Given the description of an element on the screen output the (x, y) to click on. 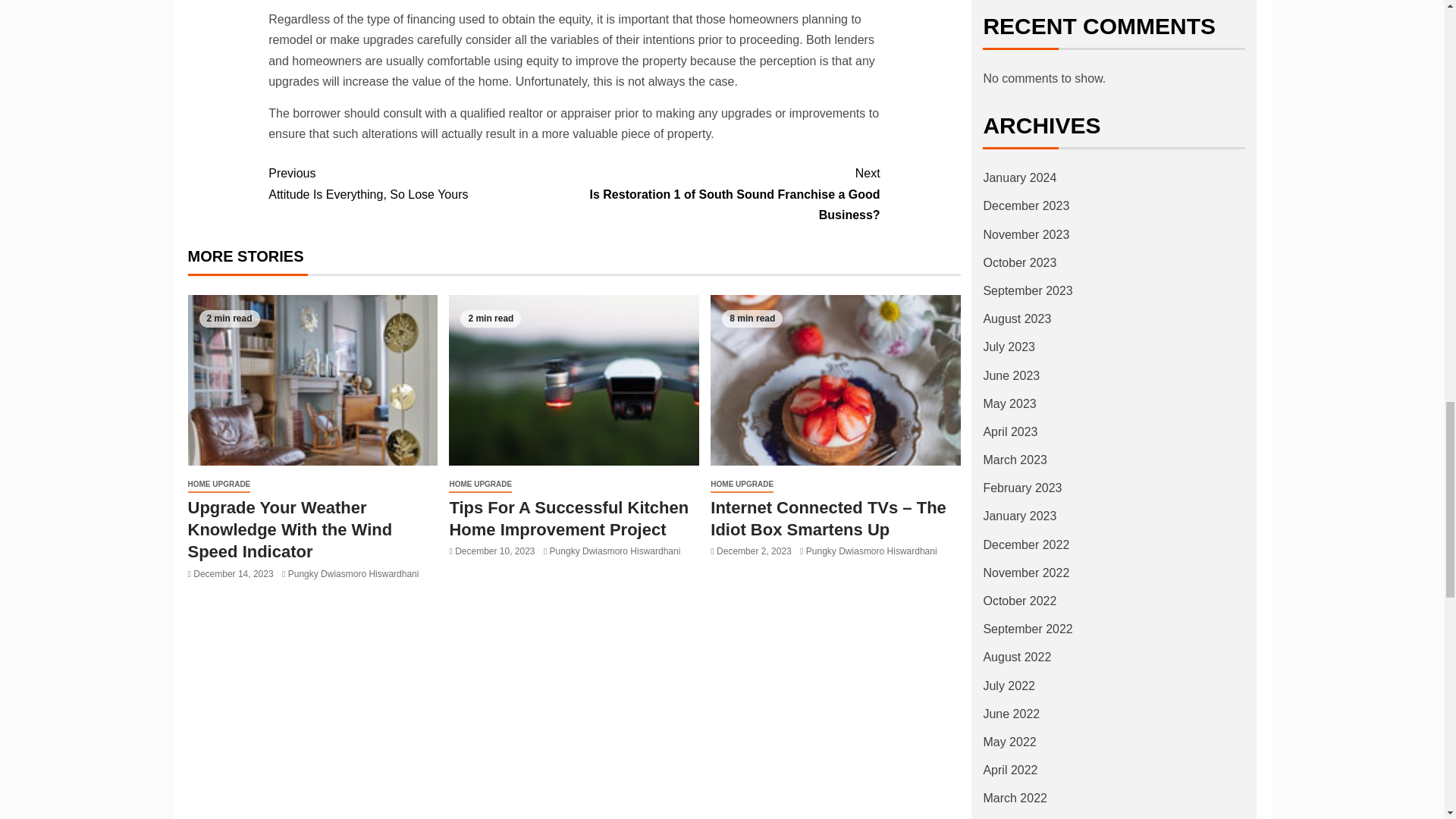
Pungky Dwiasmoro Hiswardhani (353, 573)
Upgrade Your Weather Knowledge With the Wind Speed Indicator (312, 380)
Upgrade Your Weather Knowledge With the Wind Speed Indicator (290, 529)
Tips For A Successful Kitchen Home Improvement Project (420, 182)
HOME UPGRADE (573, 380)
